Given the description of an element on the screen output the (x, y) to click on. 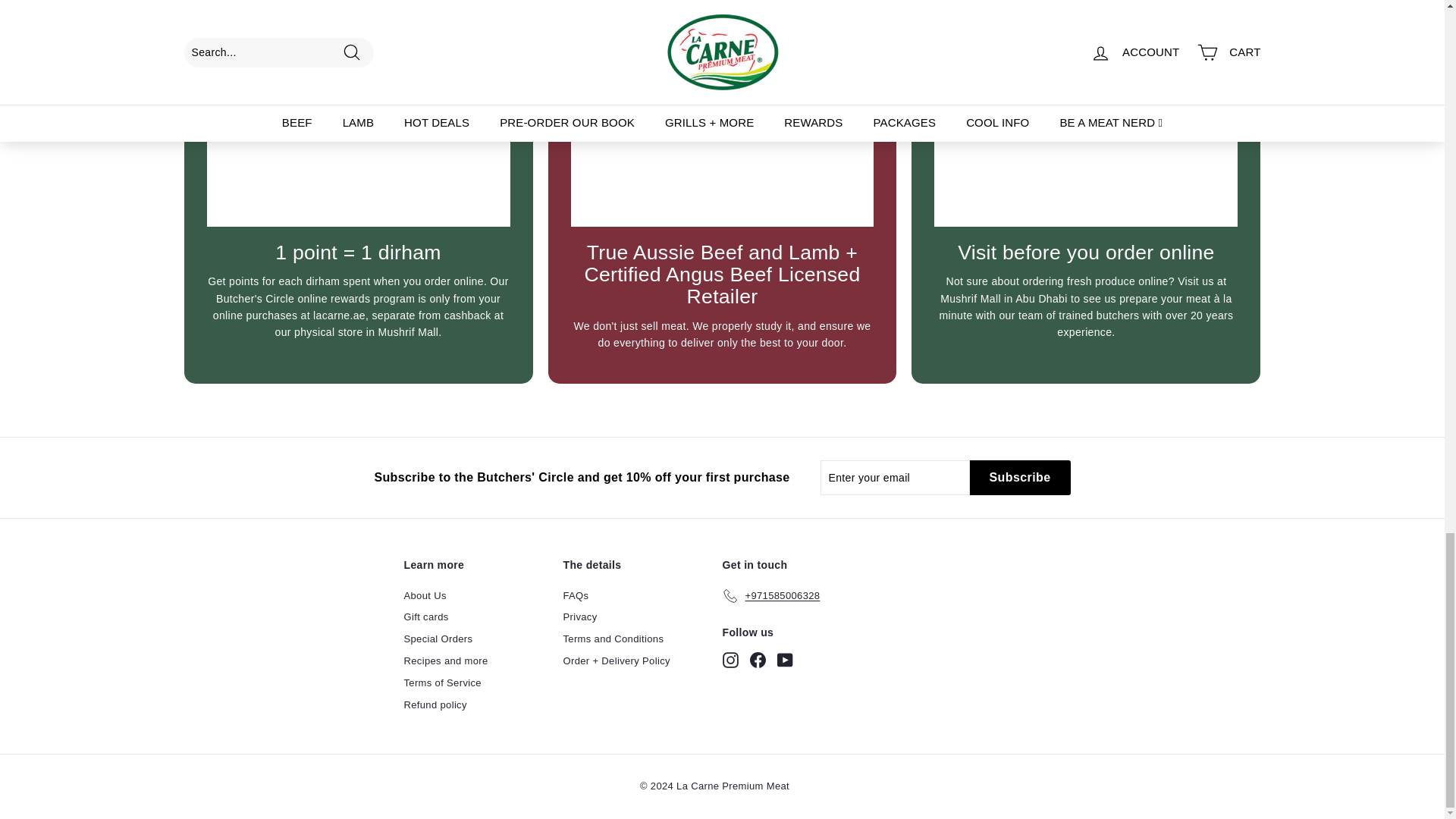
La Carne Premium Meat on YouTube (784, 659)
La Carne Premium Meat on Instagram (730, 659)
La Carne Premium Meat on Facebook (757, 659)
